Given the description of an element on the screen output the (x, y) to click on. 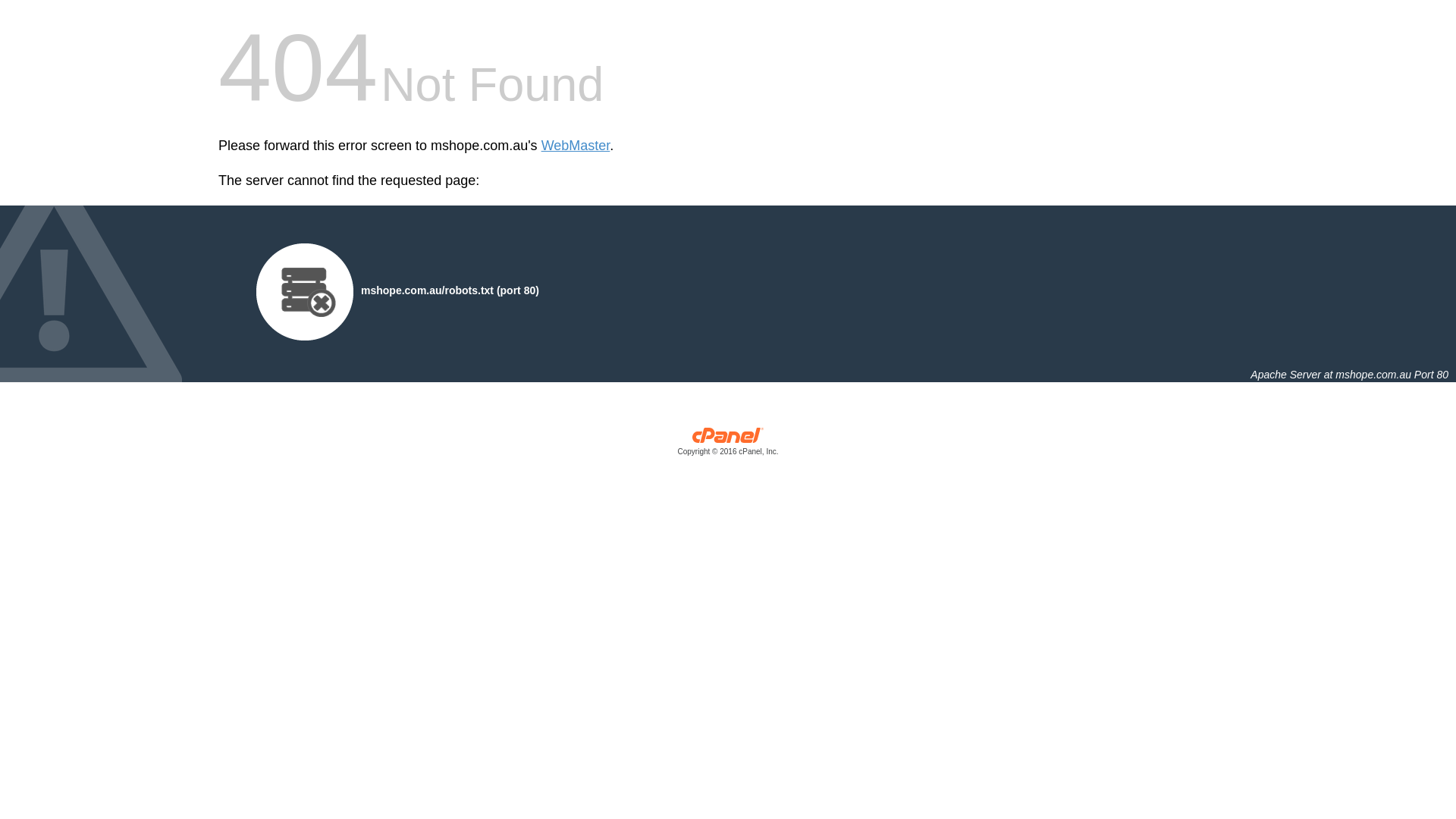
WebMaster Element type: text (575, 145)
